Given the description of an element on the screen output the (x, y) to click on. 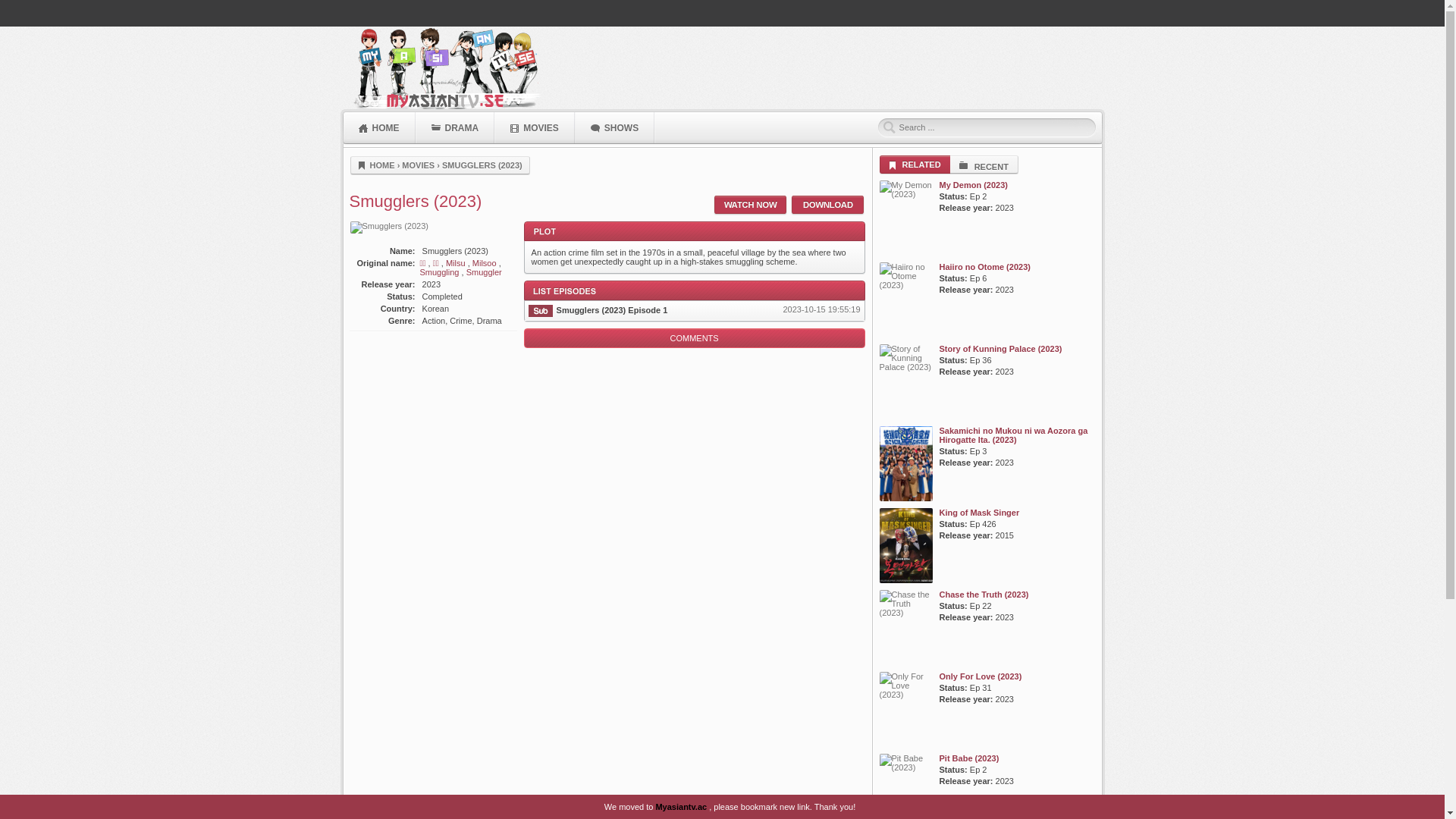
Milsoo Element type: text (486, 262)
Sakamichi no Mukou ni wa Aozora ga Hirogatte Ita. (2023) Element type: text (1012, 435)
HOME Element type: text (375, 164)
RELATED Element type: text (914, 164)
MOVIES Element type: text (418, 164)
HOME Element type: text (378, 132)
Milsu Element type: text (458, 262)
Smuggler Element type: text (484, 271)
Story of Kunning Palace (2023) Element type: text (999, 348)
Haiiro no Otome (2023) Element type: text (983, 266)
My Demon (2023) Element type: text (972, 184)
Only For Love (2023) Element type: text (979, 675)
MyAsianTV Element type: text (444, 67)
King of Mask Singer Element type: text (978, 512)
DRAMA Element type: text (455, 132)
RECENT Element type: text (984, 164)
SHOWS Element type: text (615, 132)
Myasiantv.ac Element type: text (680, 806)
MOVIES Element type: text (535, 132)
Pit Babe (2023) Element type: text (968, 757)
Chase the Truth (2023) Element type: text (983, 594)
Smugglers (2023) Episode 1 Element type: text (612, 307)
Smuggling Element type: text (443, 271)
